Given the description of an element on the screen output the (x, y) to click on. 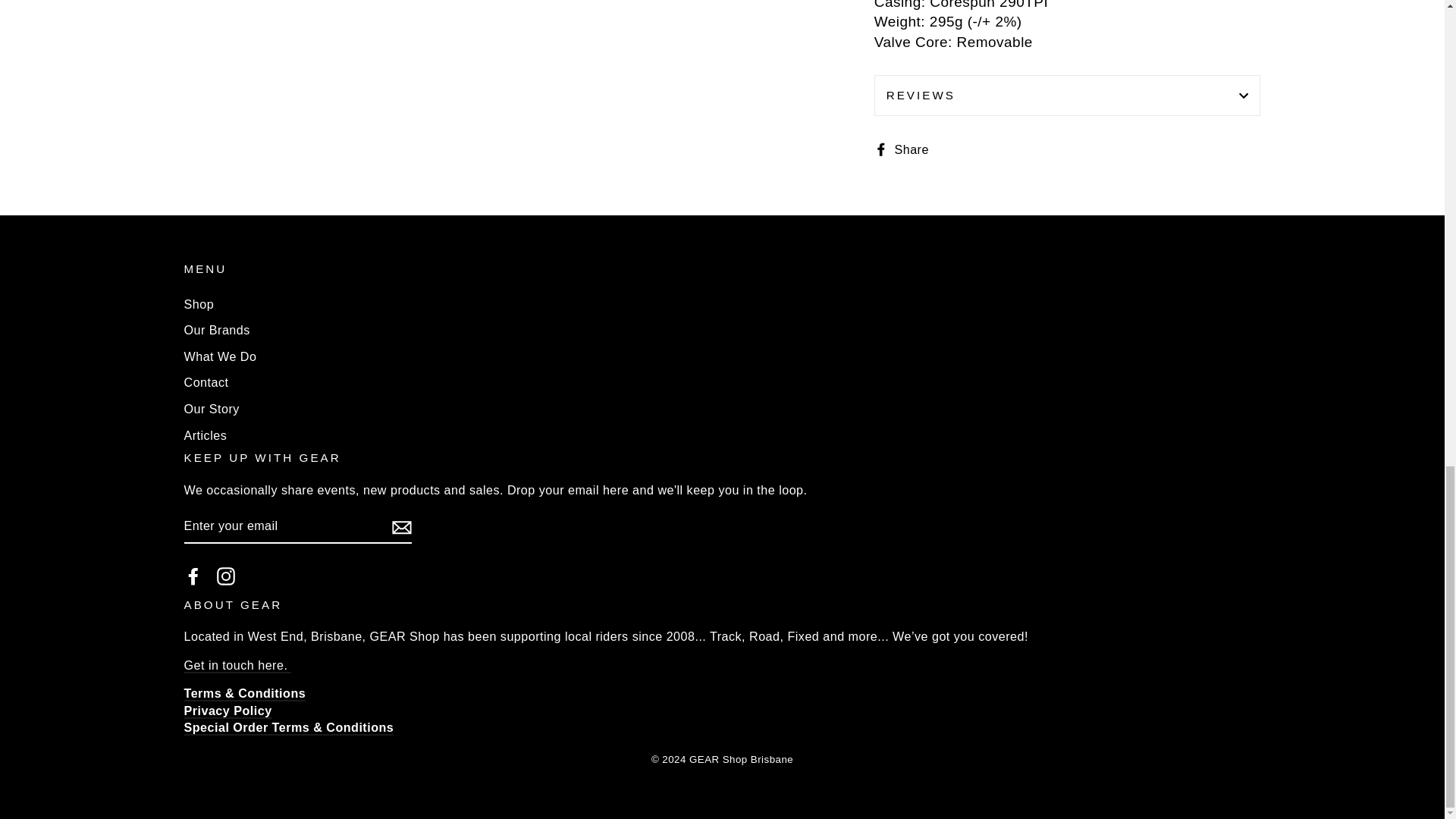
Privacy Policy (226, 711)
Share on Facebook (907, 148)
GEAR Shop Brisbane on Instagram (225, 575)
Contact us (237, 665)
GEAR Shop Brisbane on Facebook (192, 575)
